Given the description of an element on the screen output the (x, y) to click on. 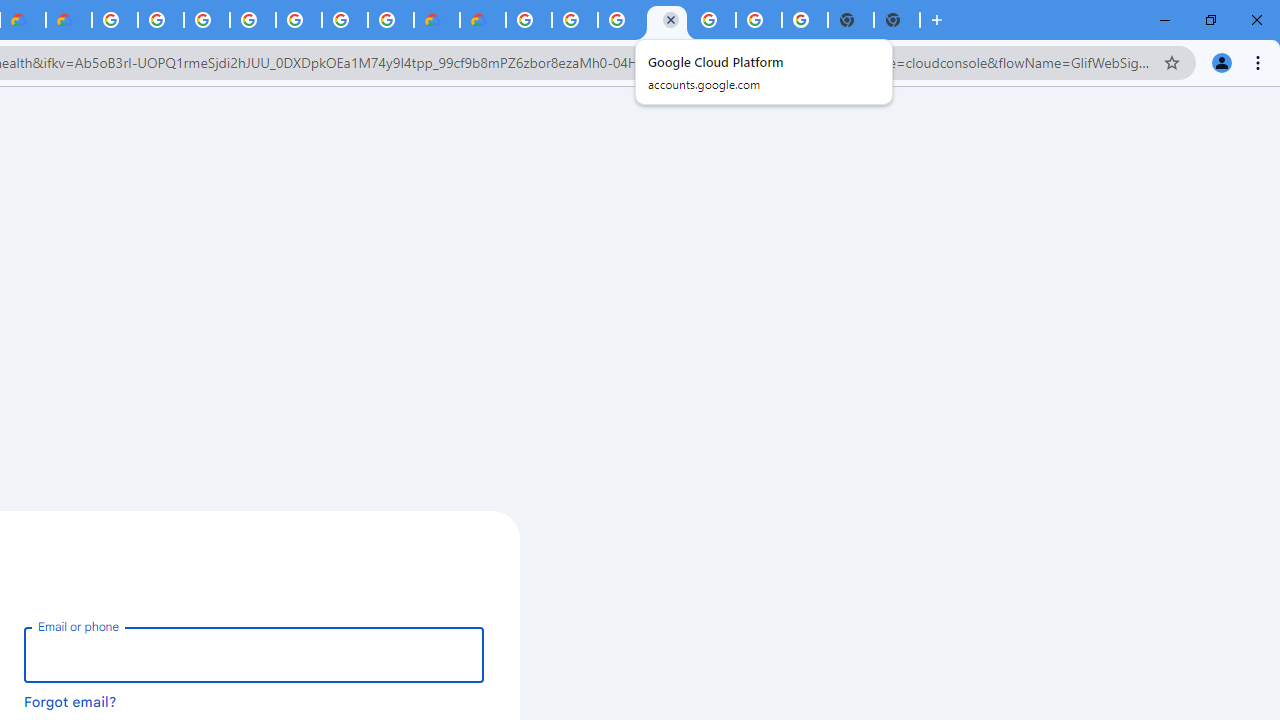
Sign in - Google Accounts (207, 20)
Google Cloud Estimate Summary (482, 20)
Google Cloud Platform (115, 20)
Google Cloud Platform (712, 20)
Customer Care | Google Cloud (436, 20)
Browse Chrome as a guest - Computer - Google Chrome Help (620, 20)
Email or phone (253, 654)
Google Cloud Platform (528, 20)
